Given the description of an element on the screen output the (x, y) to click on. 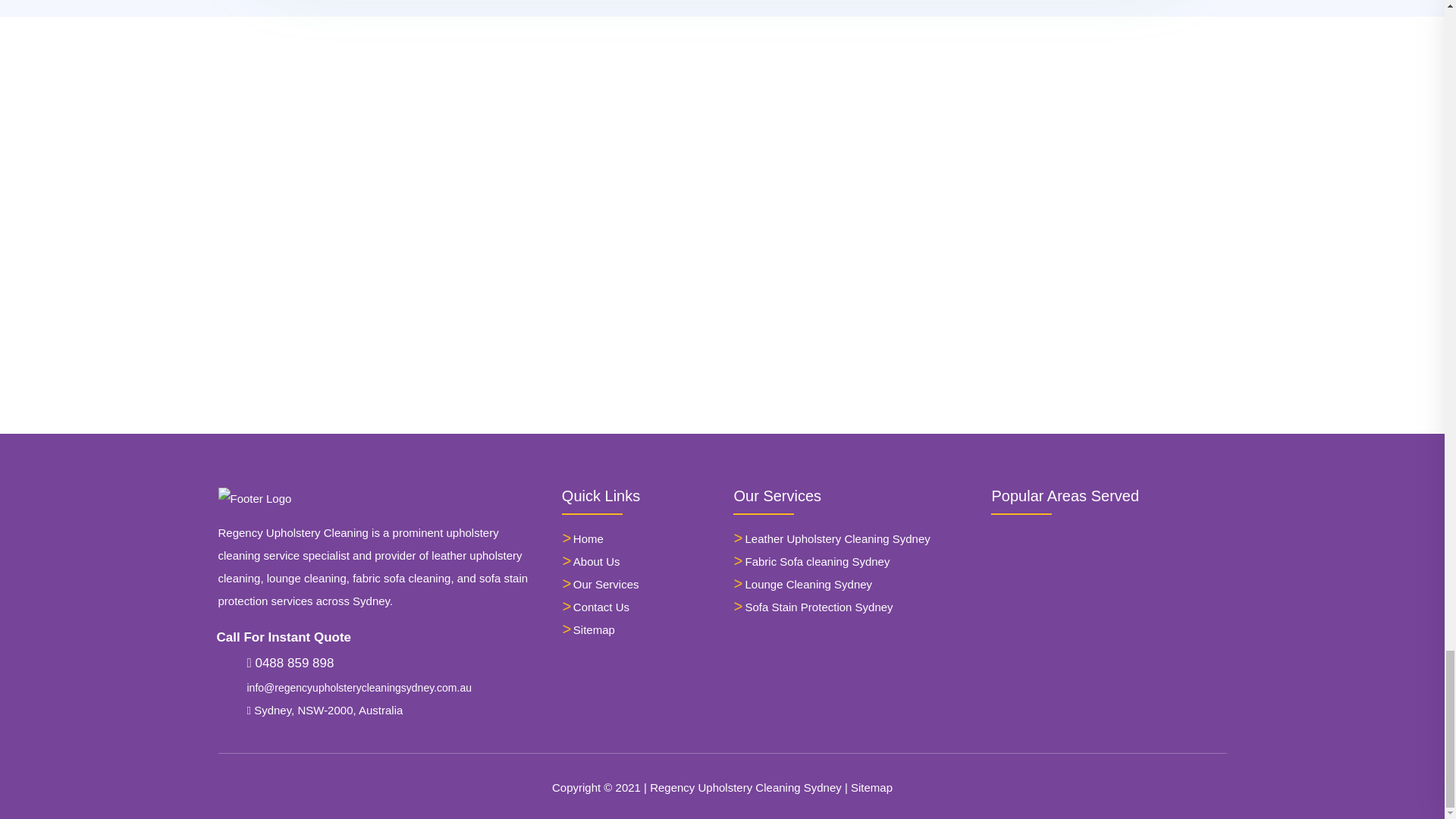
0488 859 898 (290, 663)
